Given the description of an element on the screen output the (x, y) to click on. 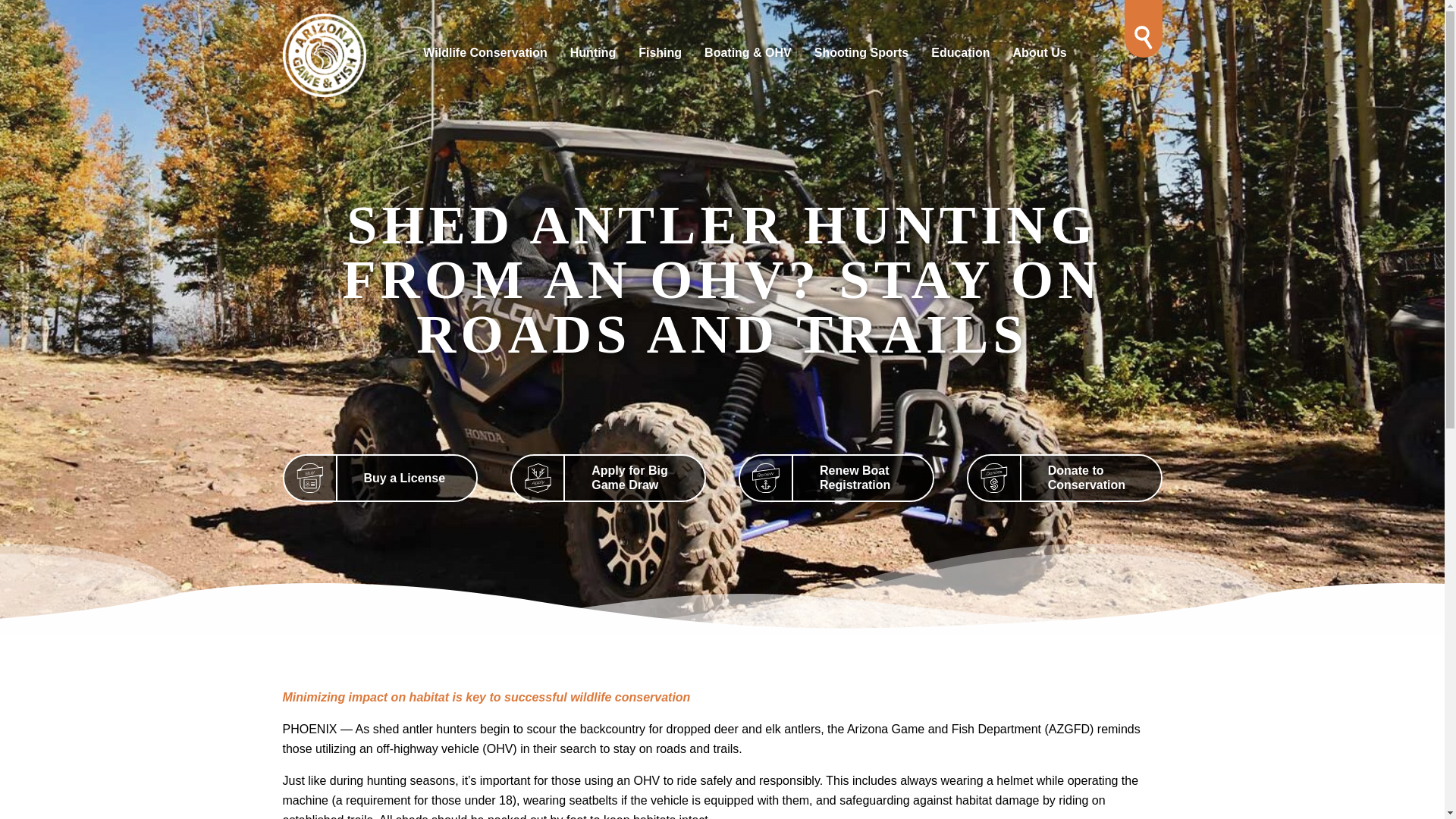
Fishing (660, 54)
Wildlife Conservation (485, 54)
Education (960, 54)
Hunting (592, 54)
Shooting Sports (860, 54)
